Given the description of an element on the screen output the (x, y) to click on. 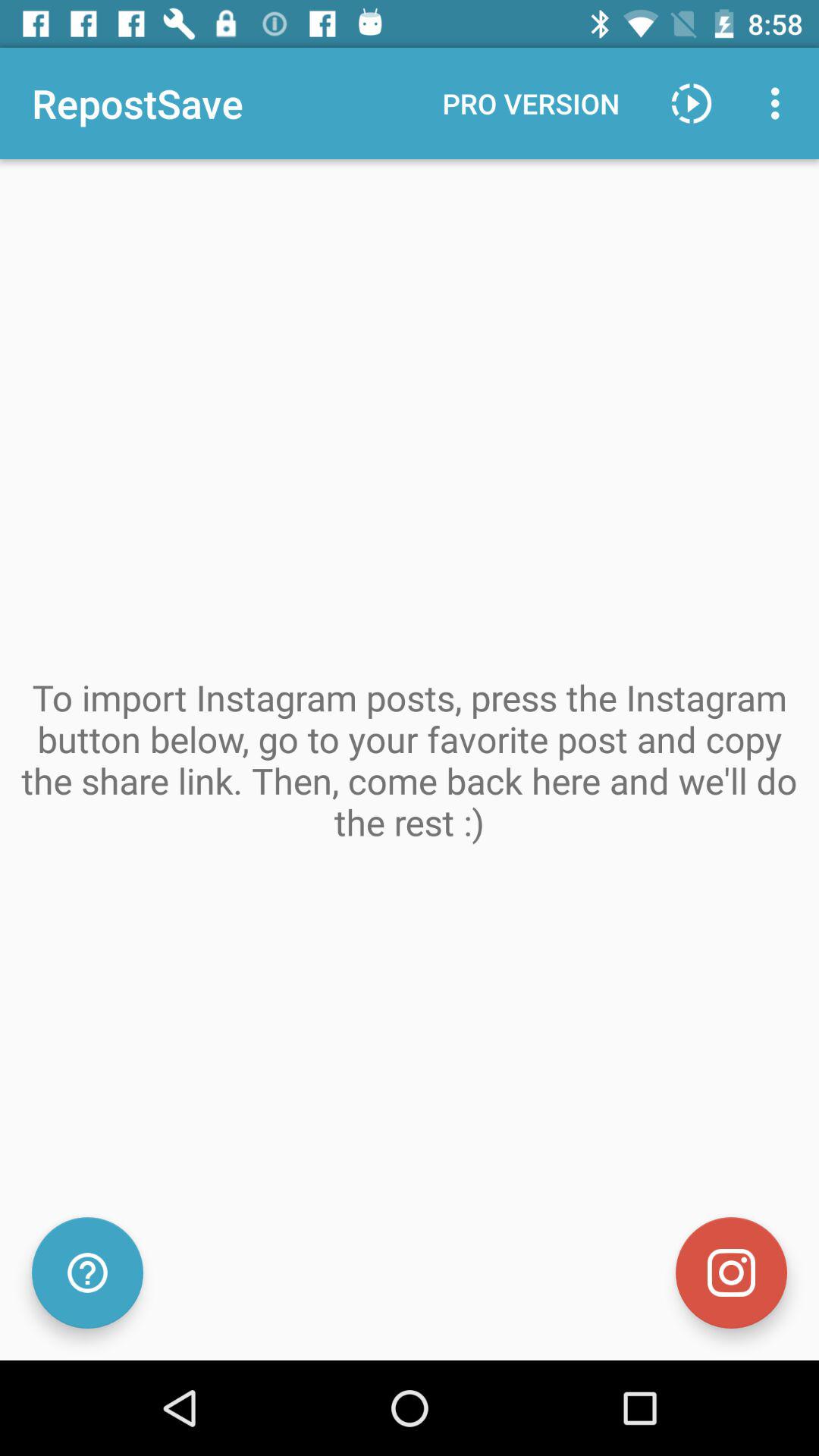
select item next to pro version icon (691, 103)
